Given the description of an element on the screen output the (x, y) to click on. 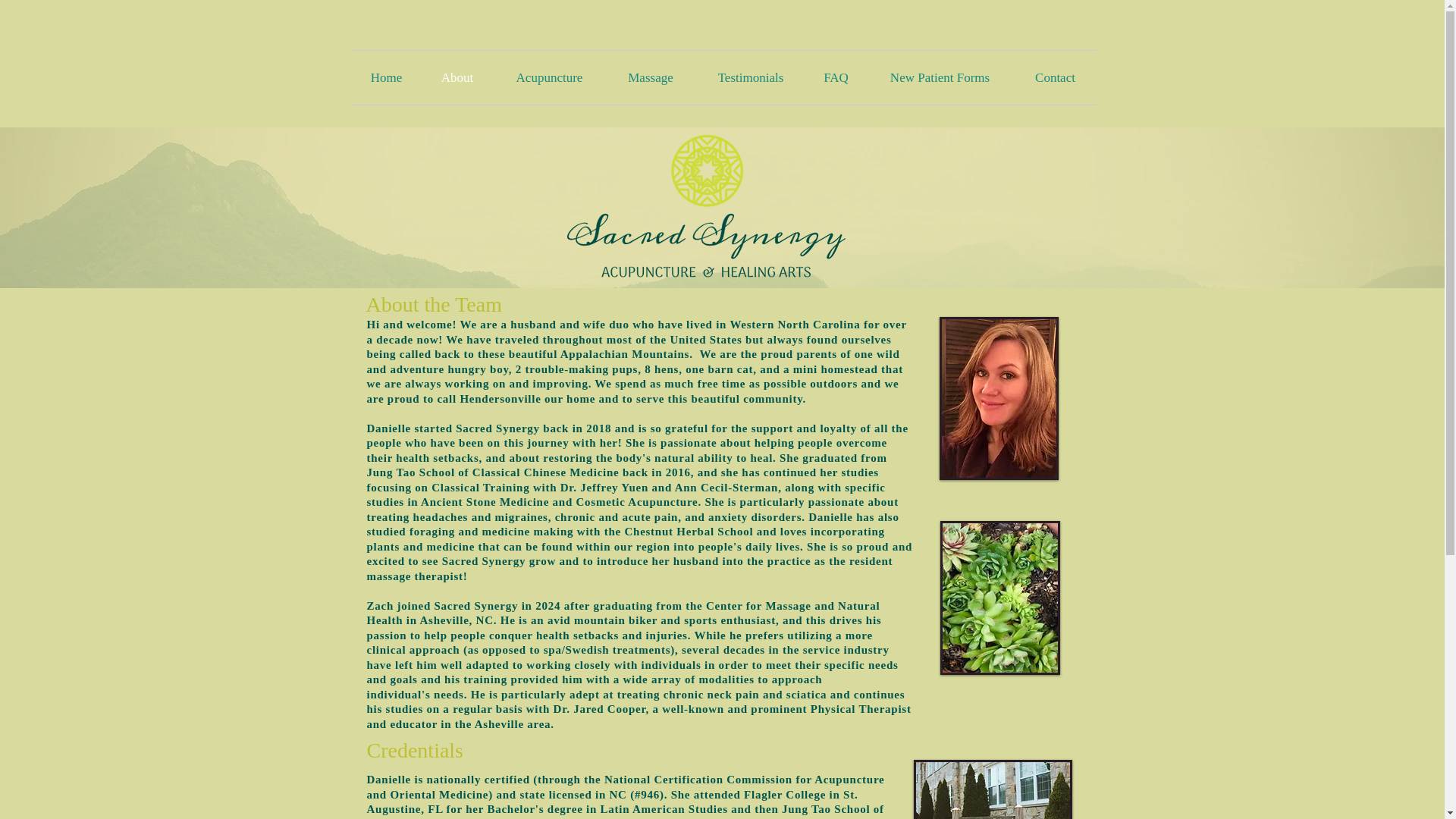
Massage (651, 77)
FAQ (836, 77)
Sacred Synergy (705, 199)
About (457, 77)
Contact (1055, 77)
Acupuncture (550, 77)
Jung Tao Acupuncure School (991, 789)
New Patient Forms (940, 77)
Home (386, 77)
Testimonials (750, 77)
